Given the description of an element on the screen output the (x, y) to click on. 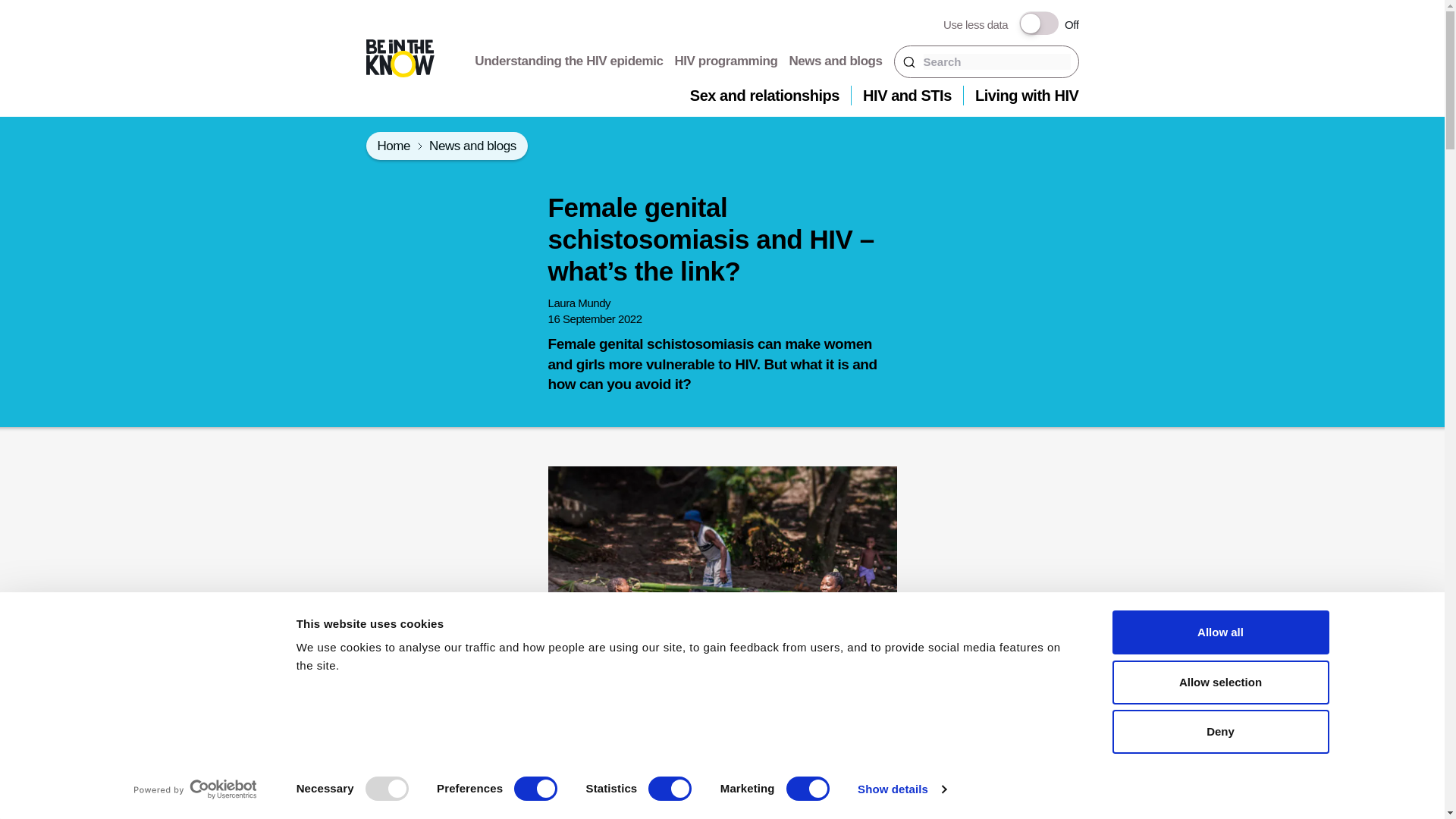
Show details (900, 789)
